Given the description of an element on the screen output the (x, y) to click on. 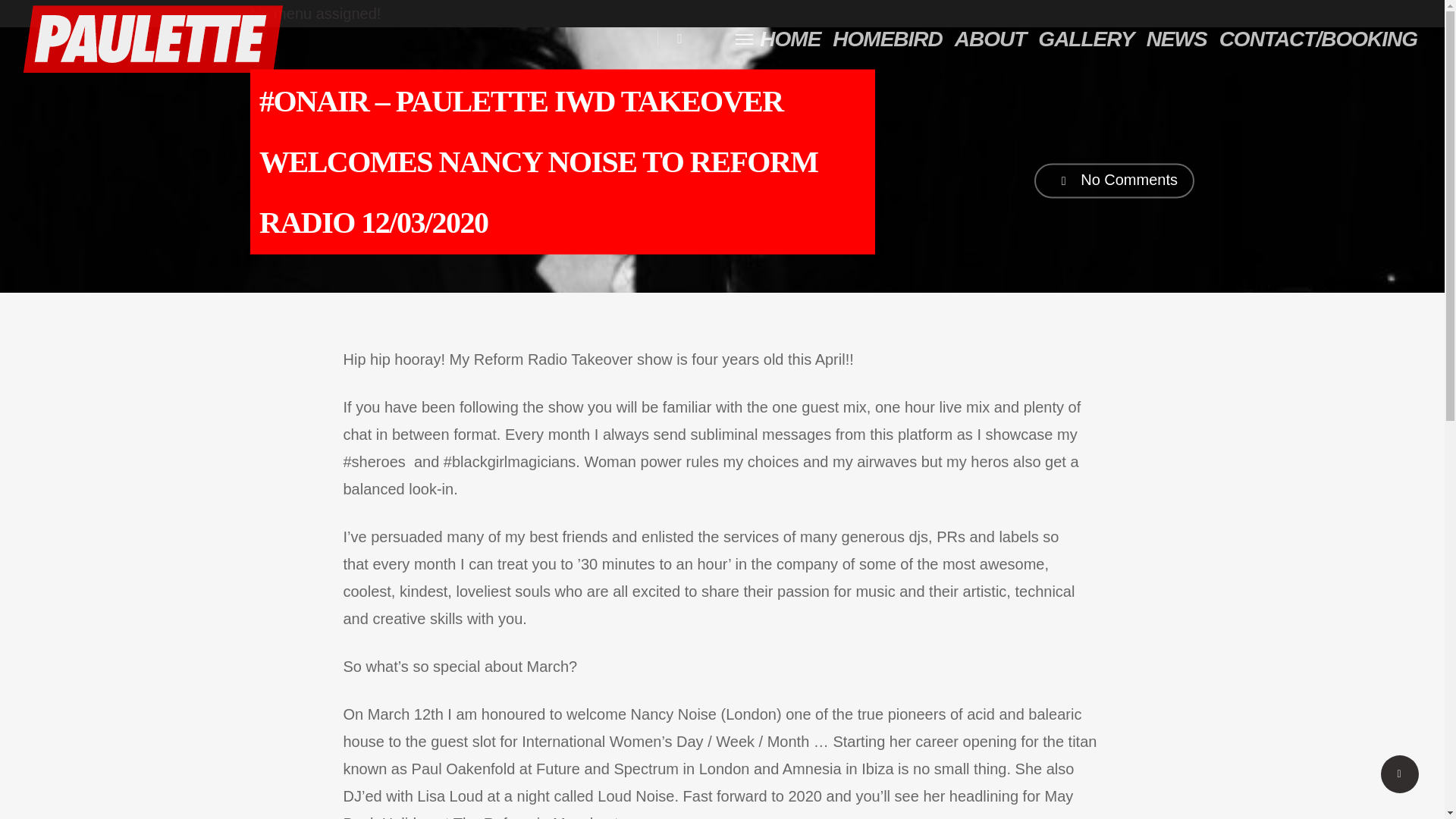
Subscribe (1015, 635)
HOMEBIRD (887, 38)
GALLERY (1086, 38)
No Comments (1113, 180)
No menu assigned! (315, 13)
ABOUT (990, 38)
NEWS (1176, 38)
HOME (790, 38)
Subscribe (1015, 635)
